Given the description of an element on the screen output the (x, y) to click on. 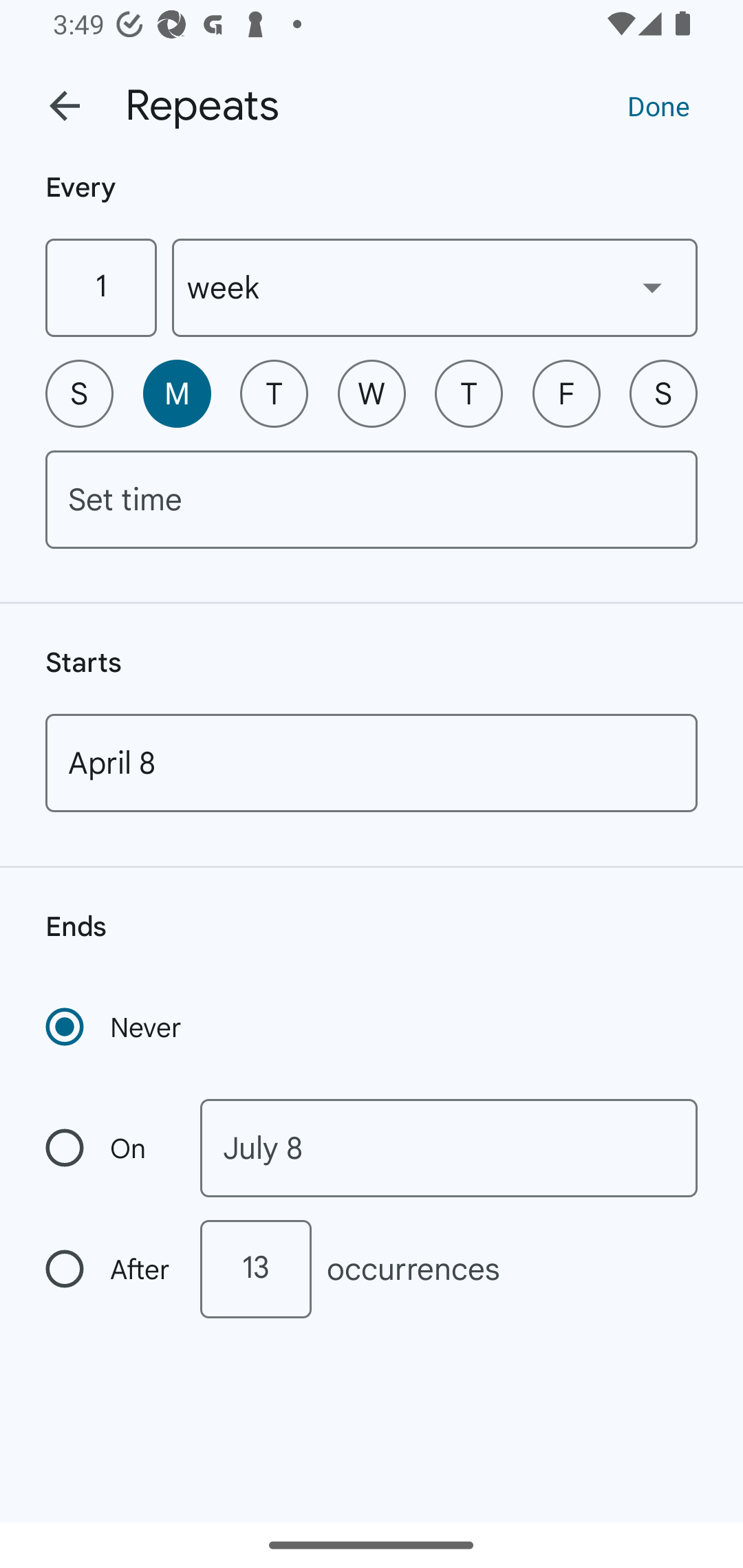
Back (64, 105)
Done (658, 105)
1 (100, 287)
week (434, 287)
Show dropdown menu (652, 286)
S Sunday (79, 393)
M Monday, selected (177, 393)
T Tuesday (273, 393)
W Wednesday (371, 393)
T Thursday (468, 393)
F Friday (566, 393)
S Saturday (663, 393)
Set time (371, 499)
April 8 (371, 762)
Never Recurrence never ends (115, 1026)
July 8 (448, 1148)
On Recurrence ends on a specific date (109, 1148)
13 (255, 1268)
